Given the description of an element on the screen output the (x, y) to click on. 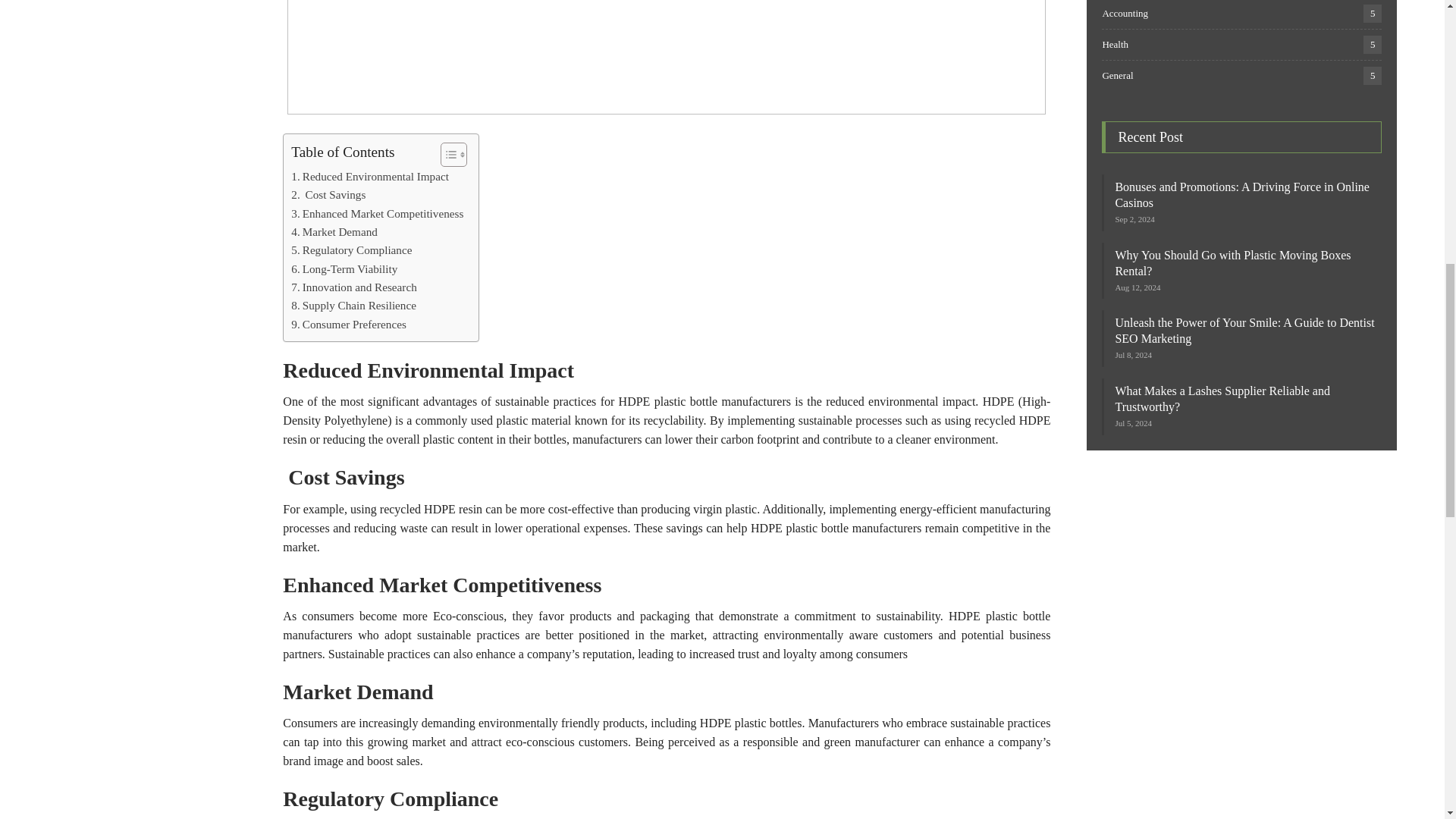
Market Demand (334, 231)
Long-Term Viability (344, 269)
Innovation and Research (353, 287)
Regulatory Compliance (351, 249)
Enhanced Market Competitiveness (377, 213)
 Cost Savings (328, 194)
Reduced Environmental Impact (369, 176)
Reduced Environmental Impact (369, 176)
Consumer Preferences (348, 324)
